Given the description of an element on the screen output the (x, y) to click on. 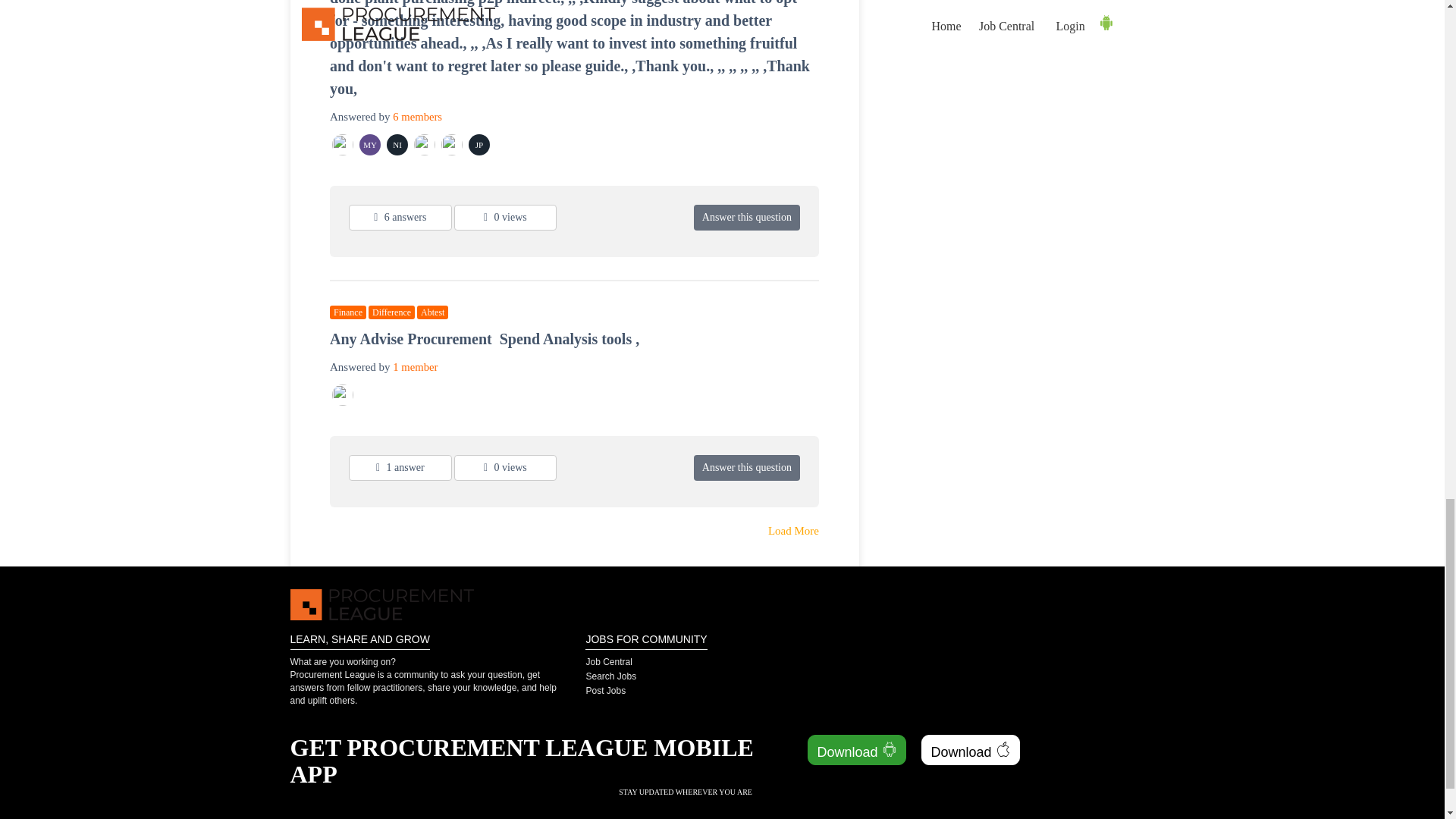
John Praveen (480, 144)
Saheena Ansari (343, 144)
MUKUL YADAV (370, 144)
Aneezul Hakeem K (452, 144)
James Moran (424, 144)
Nicolas Insixiengmay (398, 144)
James Moran (343, 394)
